Given the description of an element on the screen output the (x, y) to click on. 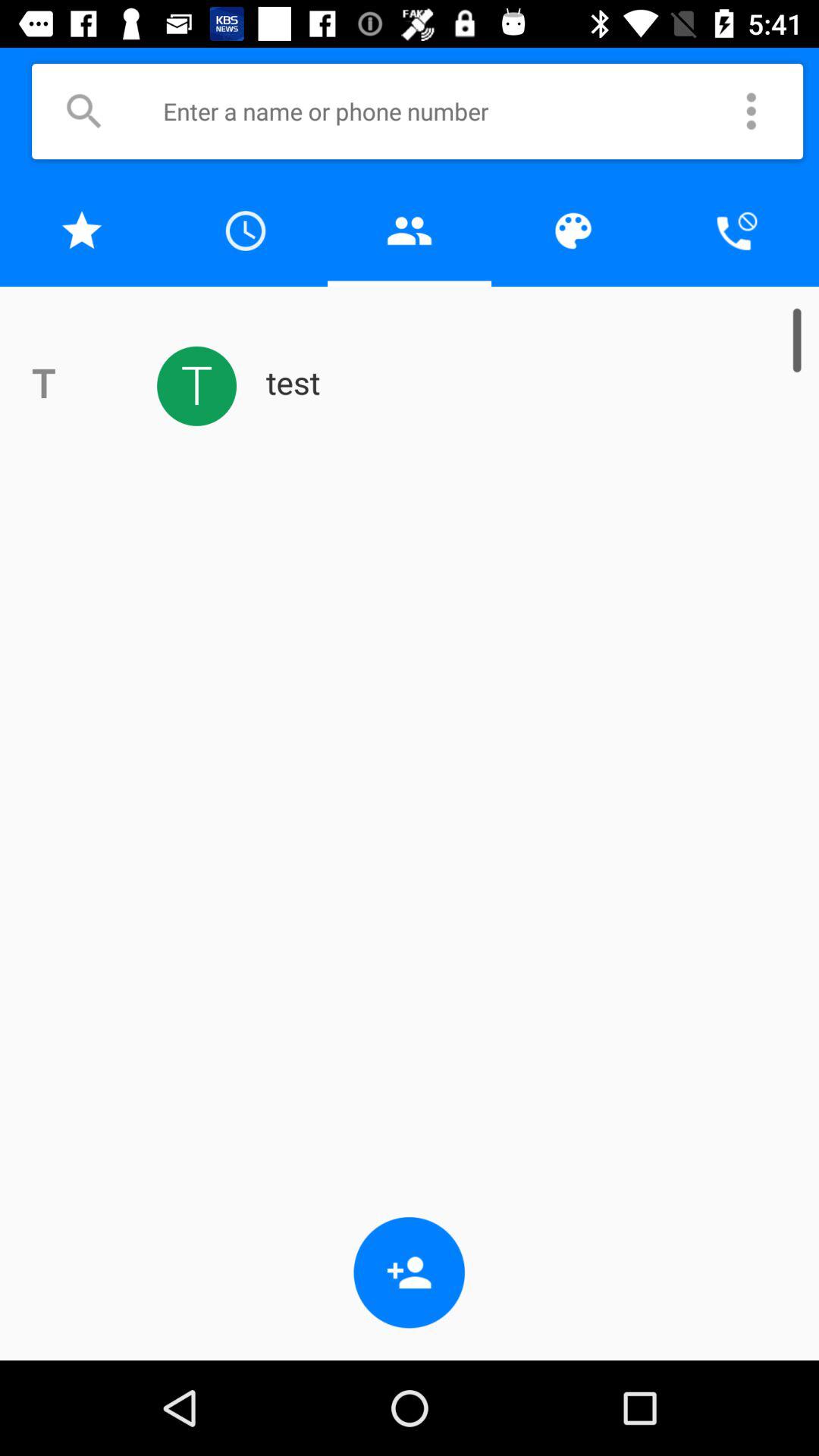
tirar la basura (409, 230)
